Given the description of an element on the screen output the (x, y) to click on. 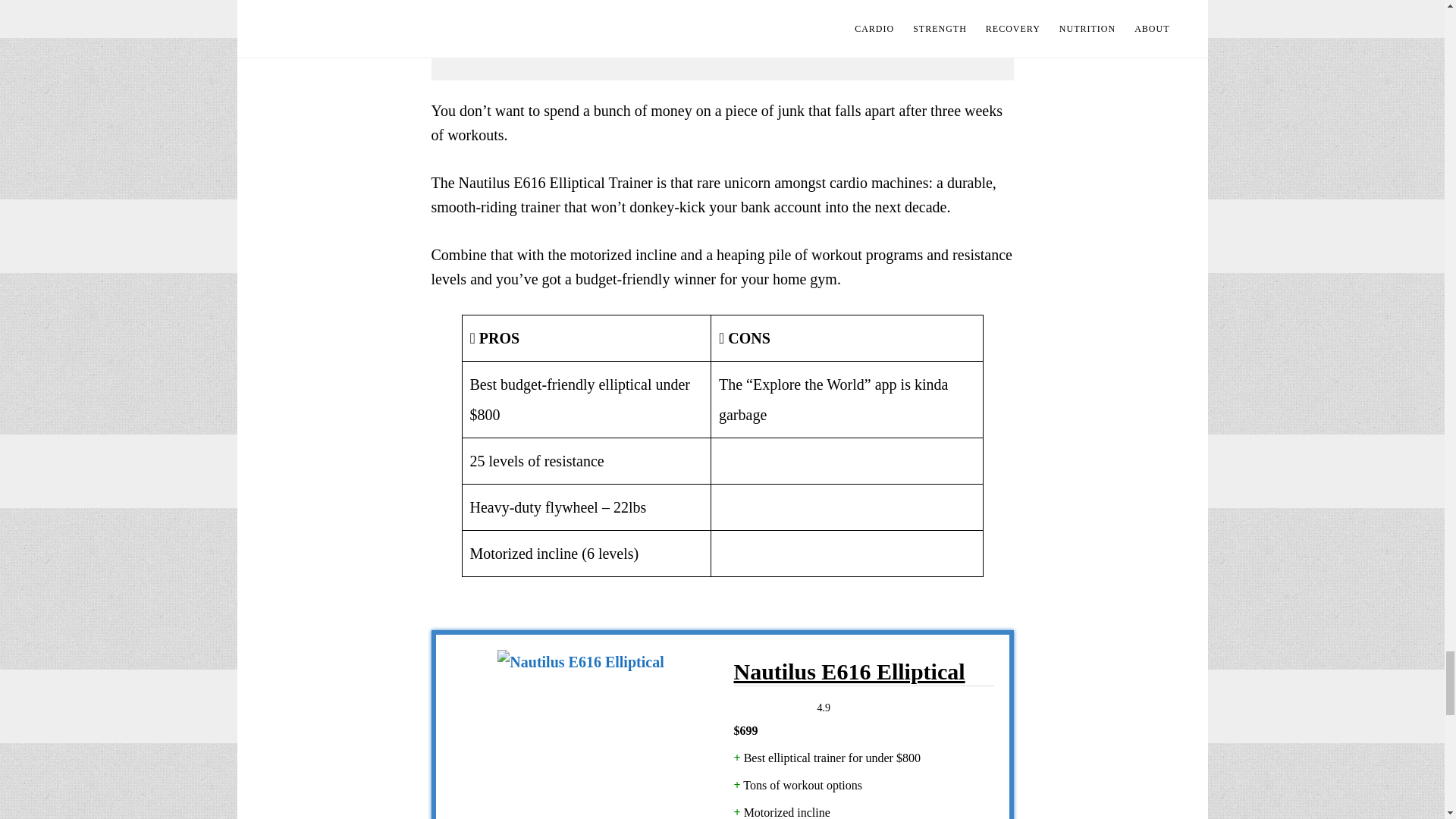
Nautilus E616 Elliptical (579, 734)
Nautilus E616 Elliptical (863, 672)
